Given the description of an element on the screen output the (x, y) to click on. 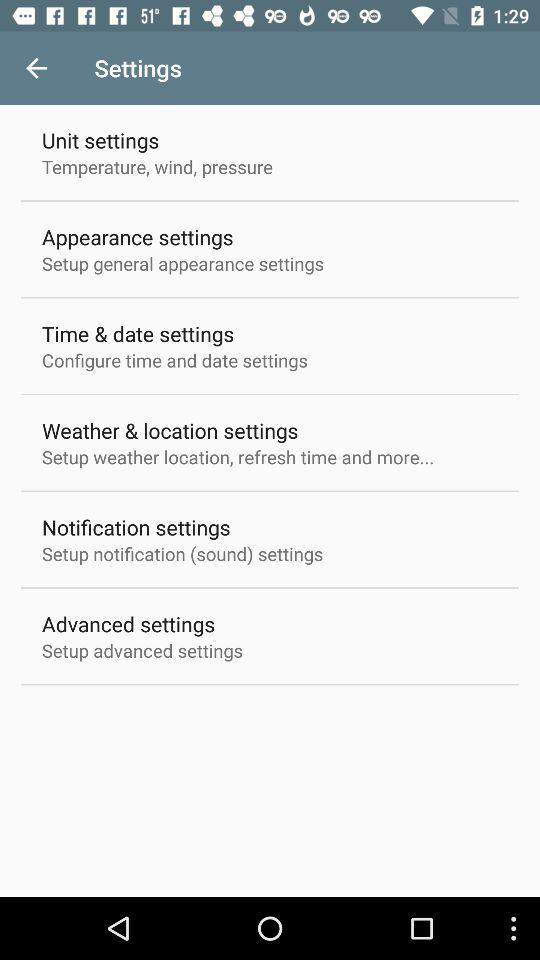
flip until setup notification sound icon (182, 553)
